Given the description of an element on the screen output the (x, y) to click on. 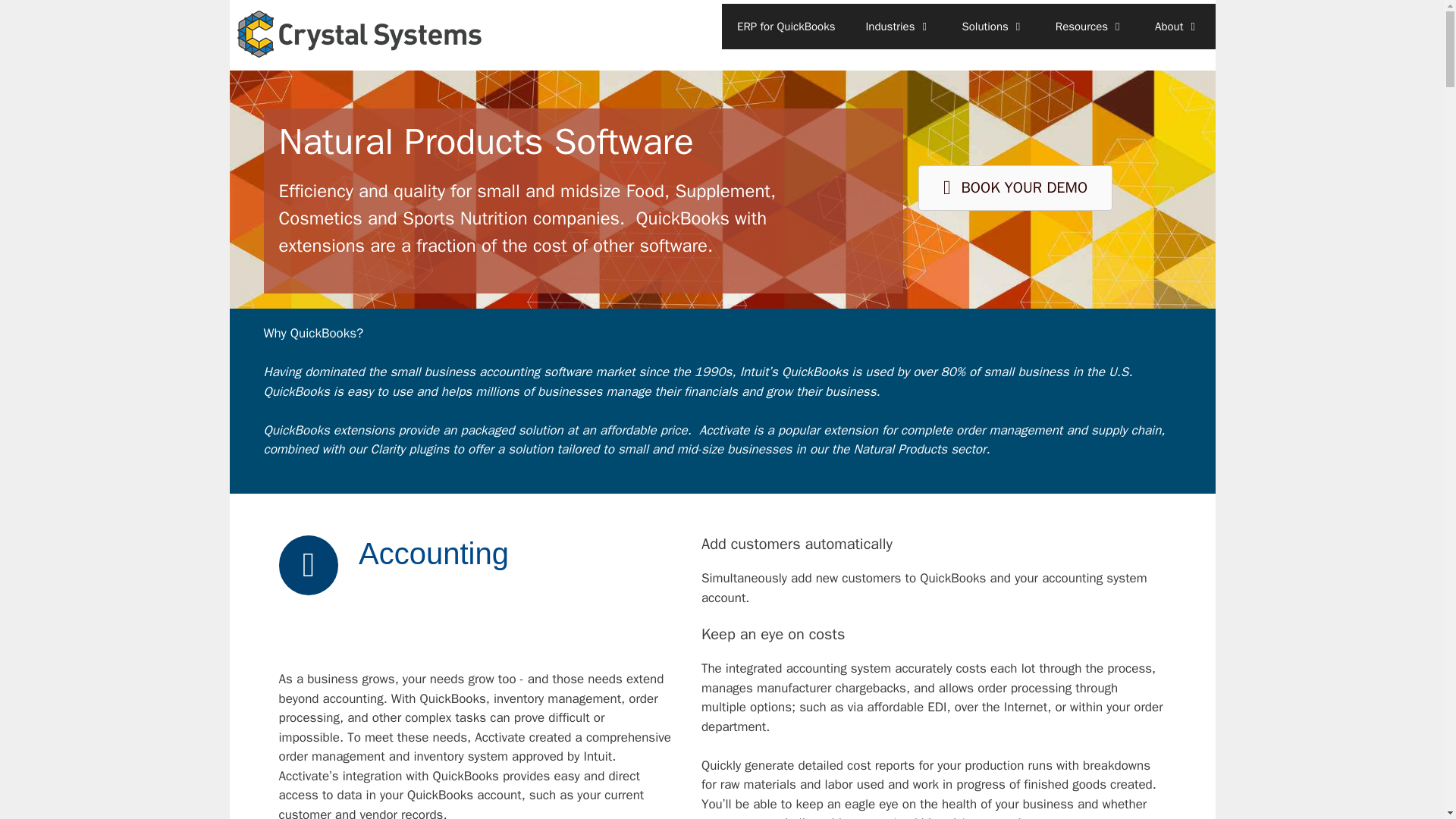
Solutions (992, 26)
ERP for QuickBooks (786, 26)
Resources (1090, 26)
About (1177, 26)
Industries (898, 26)
